Given the description of an element on the screen output the (x, y) to click on. 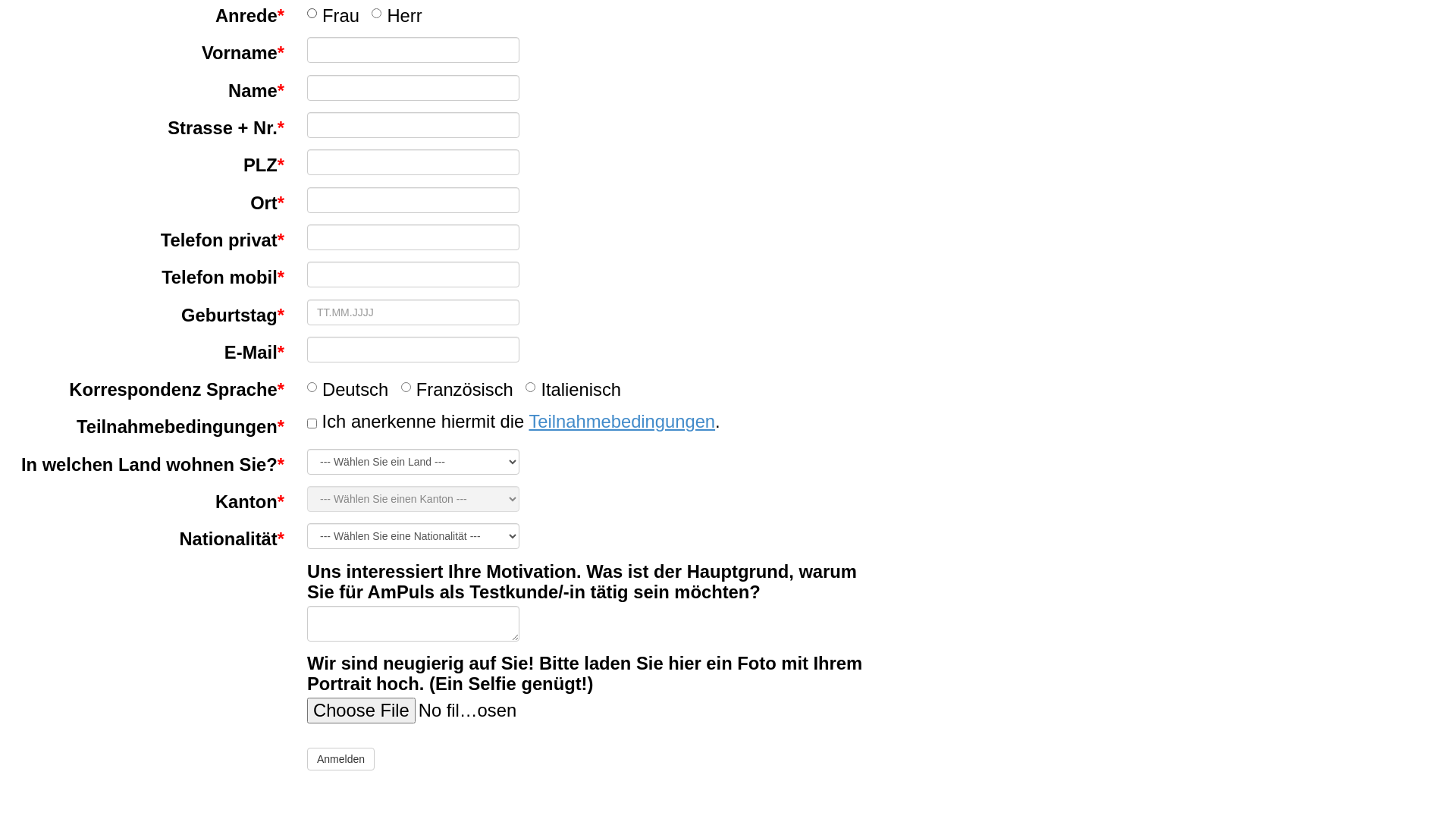
Anmelden Element type: text (340, 758)
Teilnahmebedingungen Element type: text (621, 421)
